Given the description of an element on the screen output the (x, y) to click on. 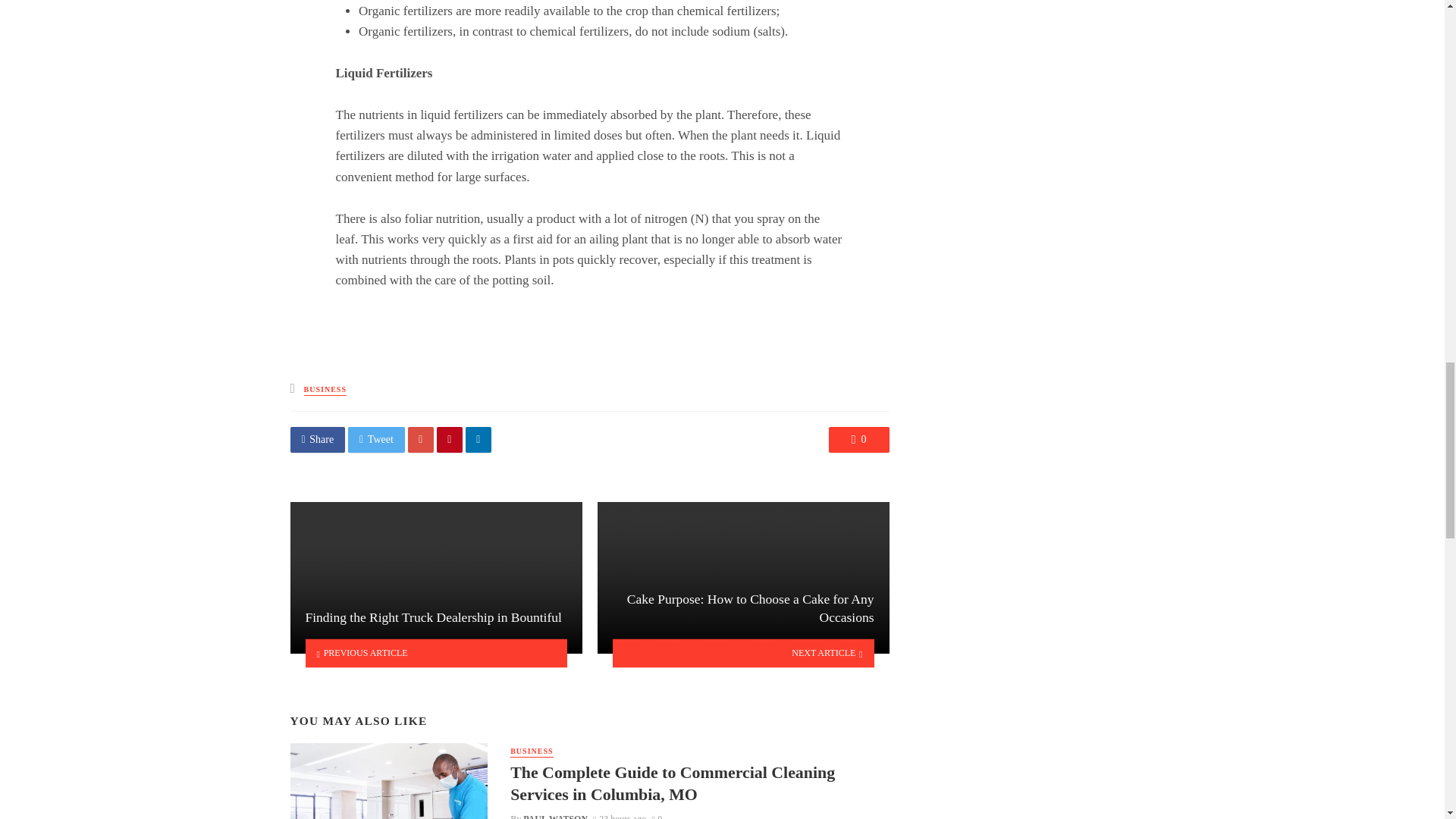
Share on Twitter (375, 439)
0 (656, 816)
Share on Linkedin (478, 439)
Tweet (375, 439)
0 (858, 439)
Share on Pinterest (449, 439)
PAUL WATSON (555, 816)
BUSINESS (532, 751)
BUSINESS (325, 389)
